Given the description of an element on the screen output the (x, y) to click on. 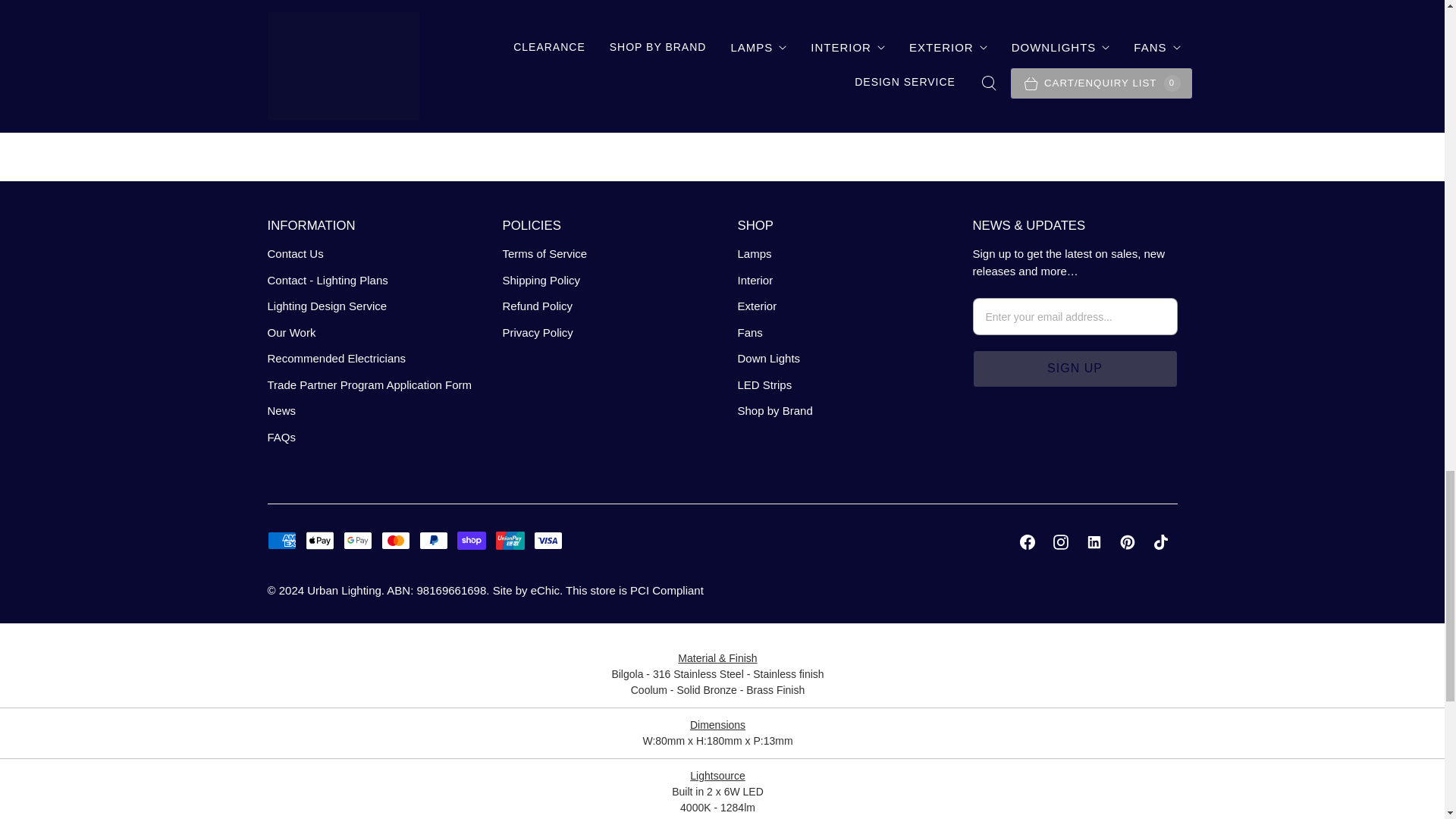
American Express (280, 540)
Visa (548, 540)
PayPal (433, 540)
Shop Pay (471, 540)
Google Pay (357, 540)
Mastercard (395, 540)
Union Pay (510, 540)
Apple Pay (319, 540)
Sign Up (1074, 368)
